Given the description of an element on the screen output the (x, y) to click on. 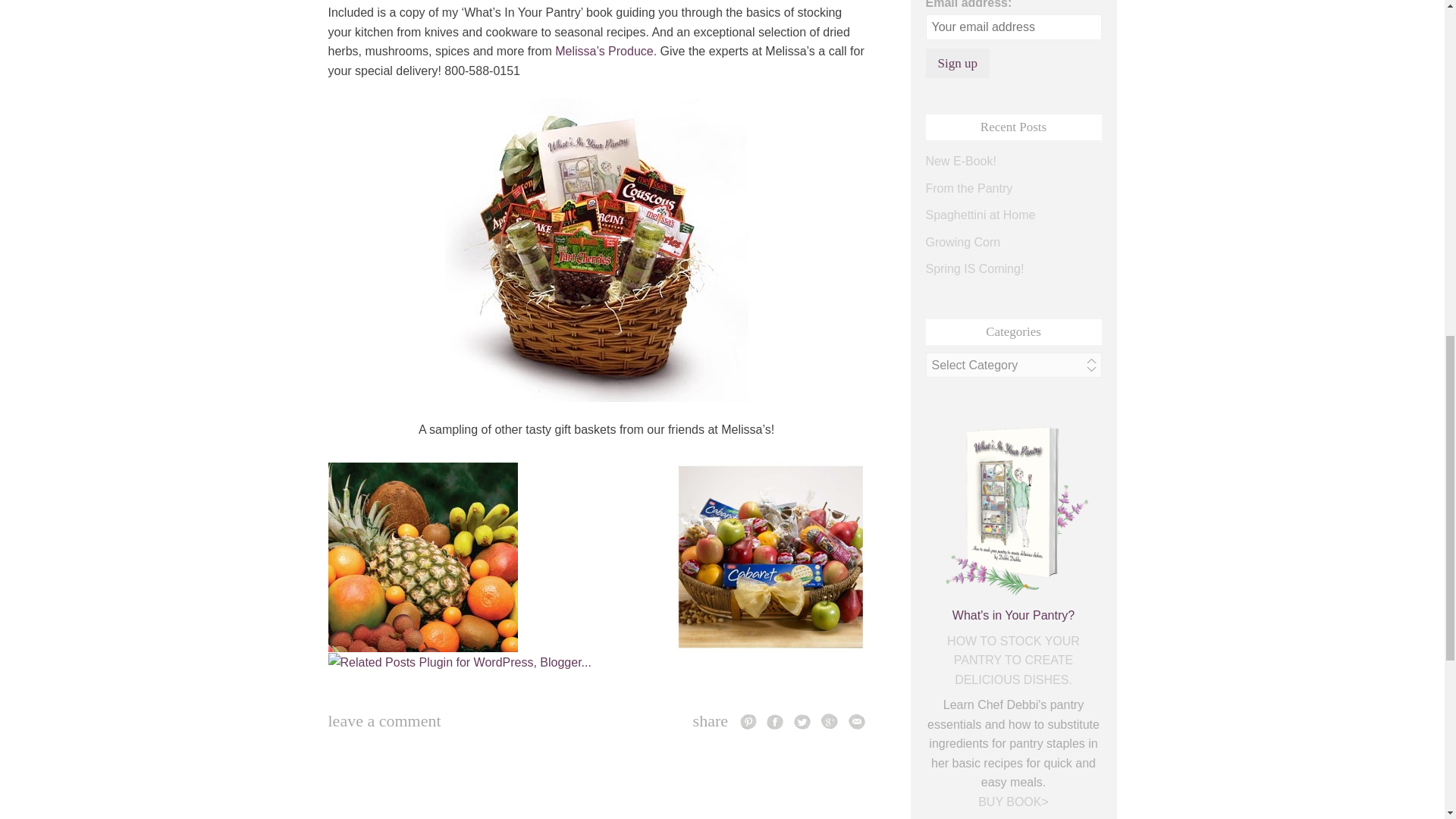
Share by Email (855, 720)
Sign up (956, 62)
leave a comment (384, 720)
